Given the description of an element on the screen output the (x, y) to click on. 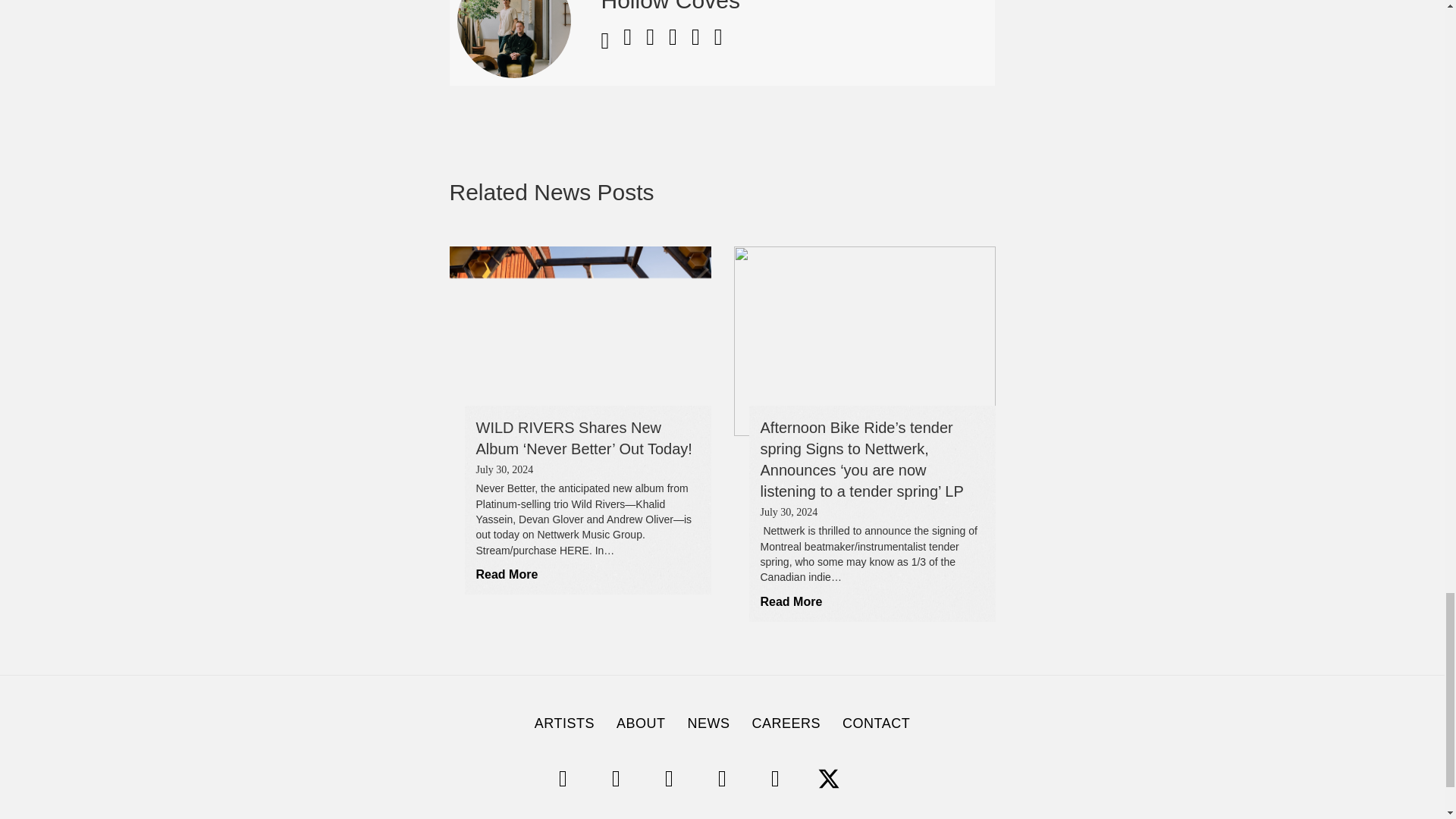
Apple Music (881, 778)
ABOUT (641, 723)
Hollow Coves (669, 6)
NEWS (708, 723)
Hollow Coves (669, 6)
TikTok (668, 778)
Instagram (615, 778)
website (609, 44)
CONTACT (875, 723)
ARTISTS (564, 723)
YouTube (721, 778)
Spotify (562, 778)
CAREERS (786, 723)
Facebook (774, 778)
